Given the description of an element on the screen output the (x, y) to click on. 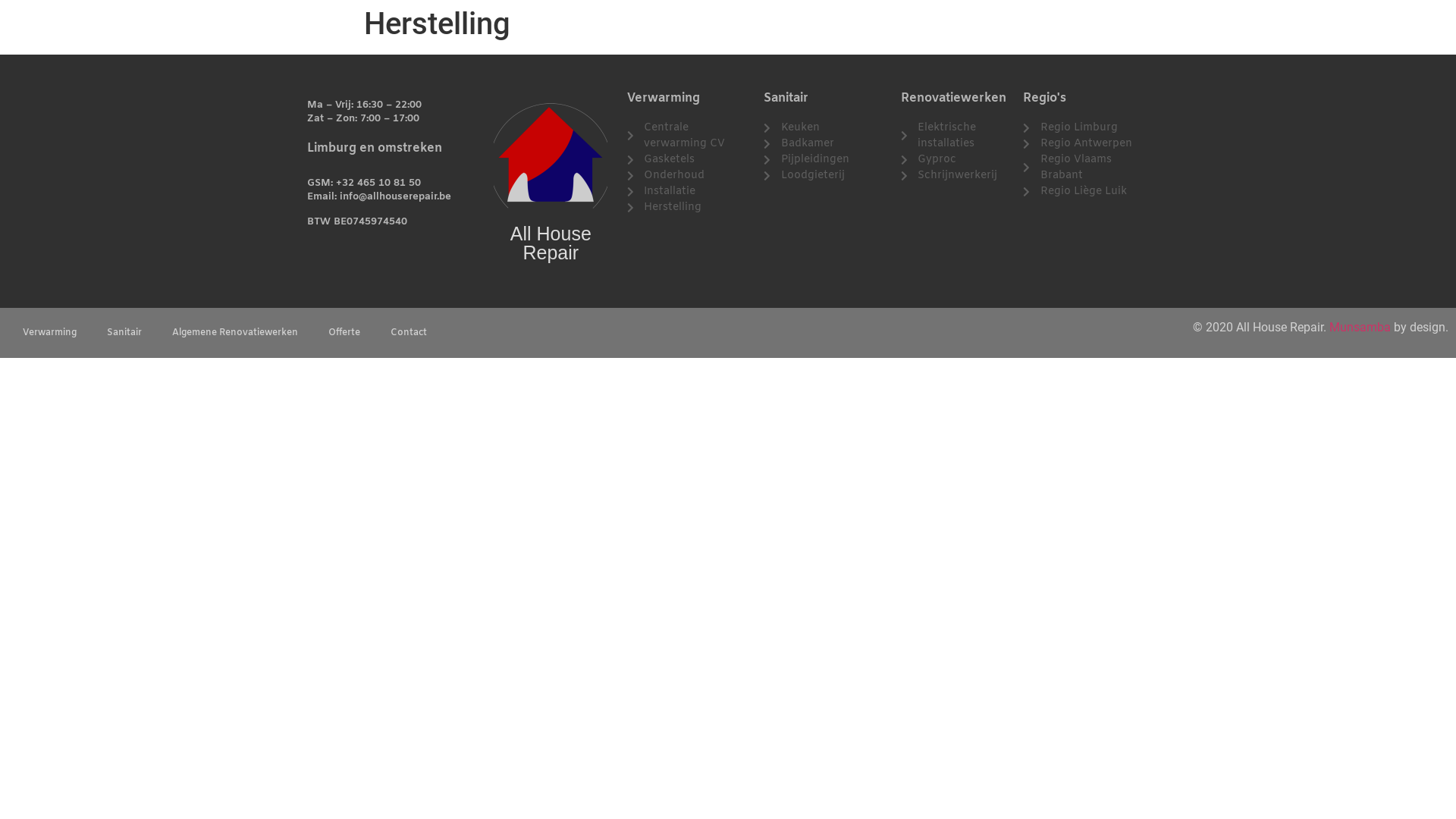
Algemene Renovatiewerken Element type: text (234, 332)
Sanitair Element type: text (785, 98)
Verwarming Element type: text (49, 332)
Verwarming Element type: text (663, 98)
Offerte Element type: text (344, 332)
Munsamba Element type: text (1359, 327)
Sanitair Element type: text (123, 332)
Renovatiewerken Element type: text (953, 98)
Contact Element type: text (408, 332)
Regio's Element type: text (1044, 98)
All House Repair Element type: text (550, 242)
